Given the description of an element on the screen output the (x, y) to click on. 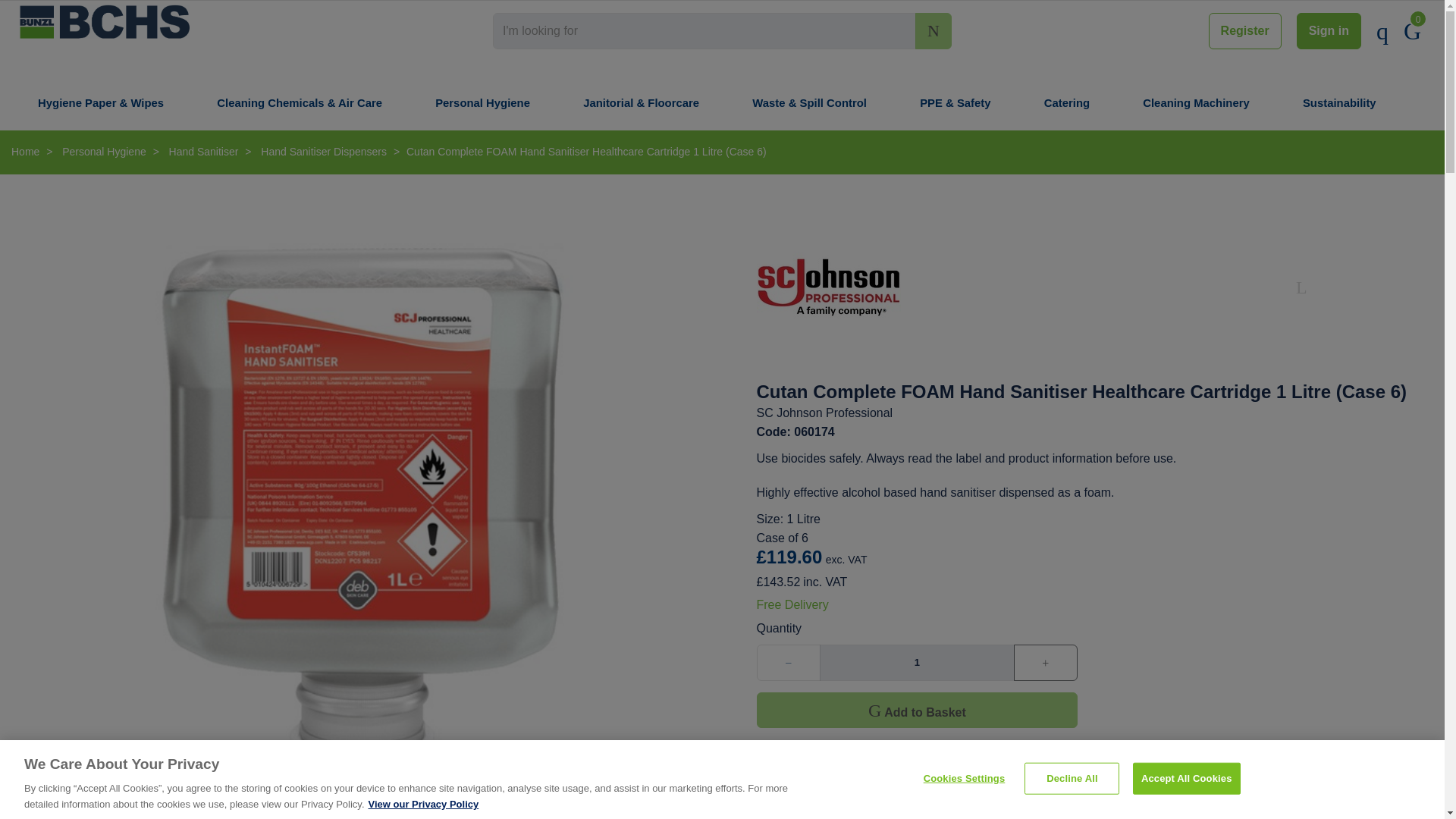
Sign in (1329, 31)
1 (916, 662)
Register (1244, 31)
